Given the description of an element on the screen output the (x, y) to click on. 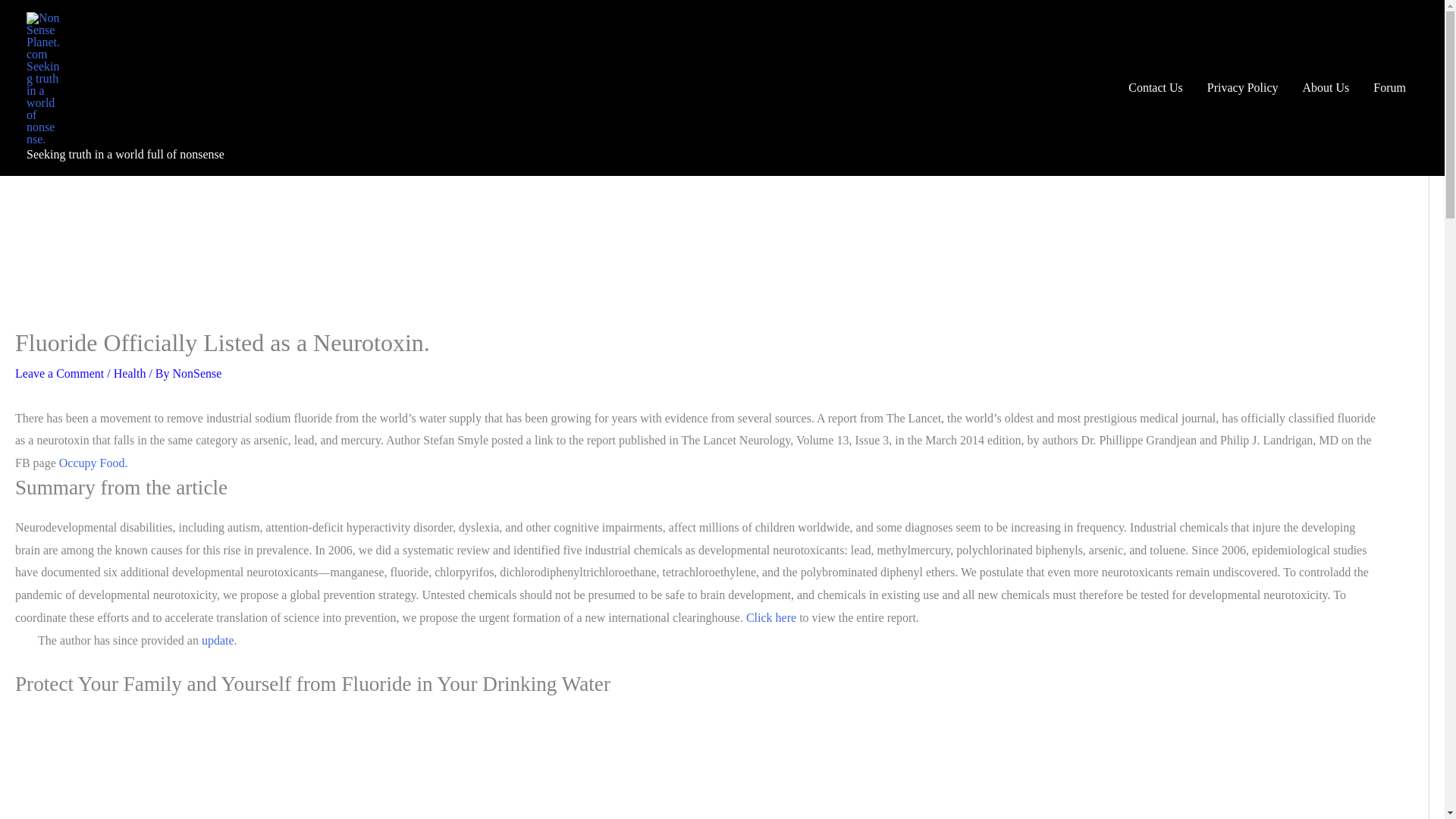
Occupy Food. (93, 462)
Leave a Comment (58, 373)
update (218, 640)
NonSense (197, 373)
About Us (1325, 87)
View all posts by NonSense (197, 373)
Health (130, 373)
Click here (770, 617)
Forum (1389, 87)
Privacy Policy (1242, 87)
Contact Us (1155, 87)
